Given the description of an element on the screen output the (x, y) to click on. 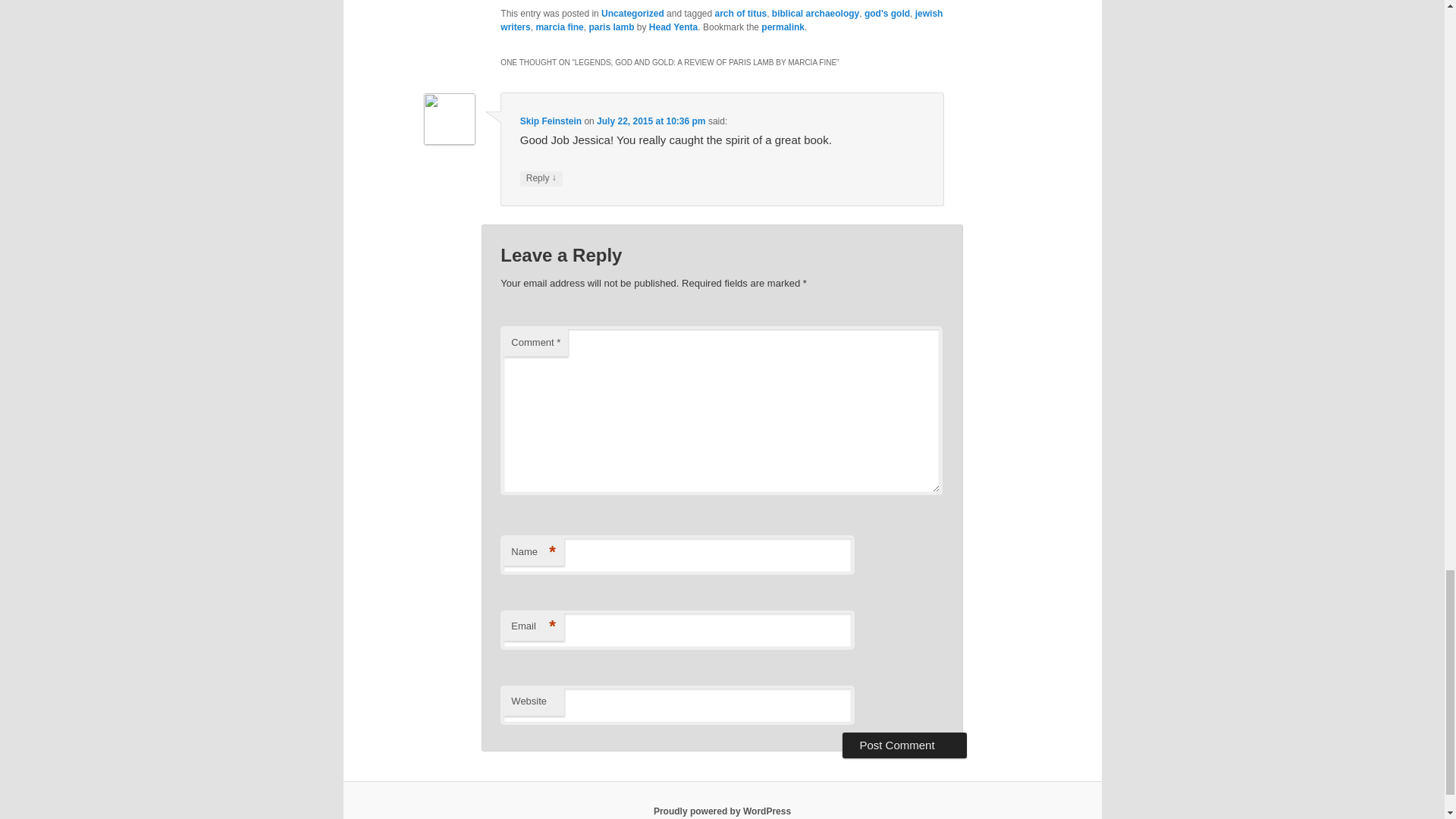
paris lamb (610, 27)
Uncategorized (632, 13)
Post Comment (904, 745)
Semantic Personal Publishing Platform (721, 810)
jewish writers (721, 20)
arch of titus (740, 13)
July 22, 2015 at 10:36 pm (650, 121)
Post Comment (904, 745)
biblical archaeology (815, 13)
marcia fine (559, 27)
Head Yenta (673, 27)
Proudly powered by WordPress (721, 810)
permalink (783, 27)
Skip Feinstein (549, 121)
